Given the description of an element on the screen output the (x, y) to click on. 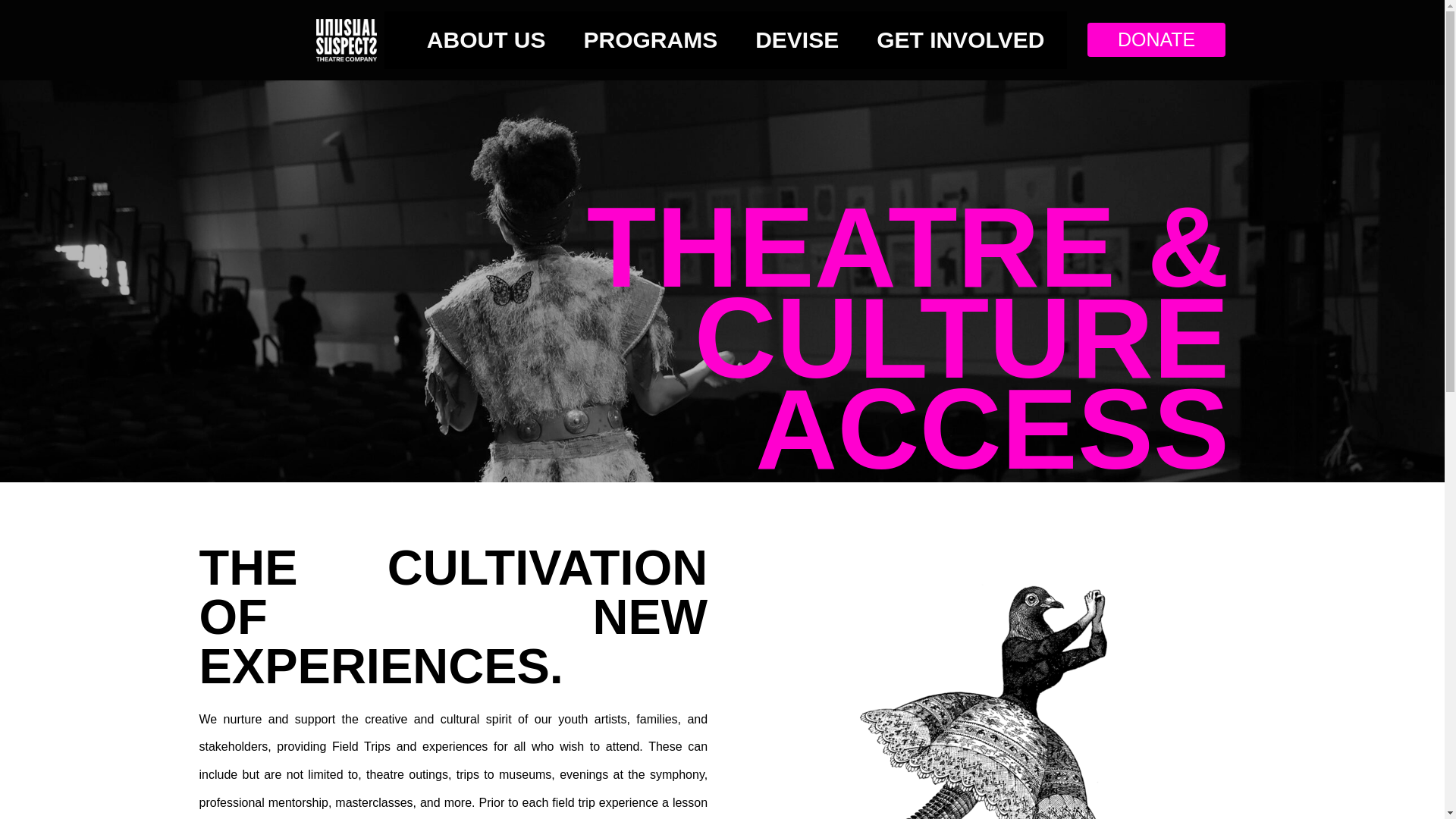
PROGRAMS (653, 39)
ABOUT US (490, 39)
GET INVOLVED (960, 39)
Page 5 (452, 762)
DEVISE (800, 39)
DONATE (1156, 39)
